Given the description of an element on the screen output the (x, y) to click on. 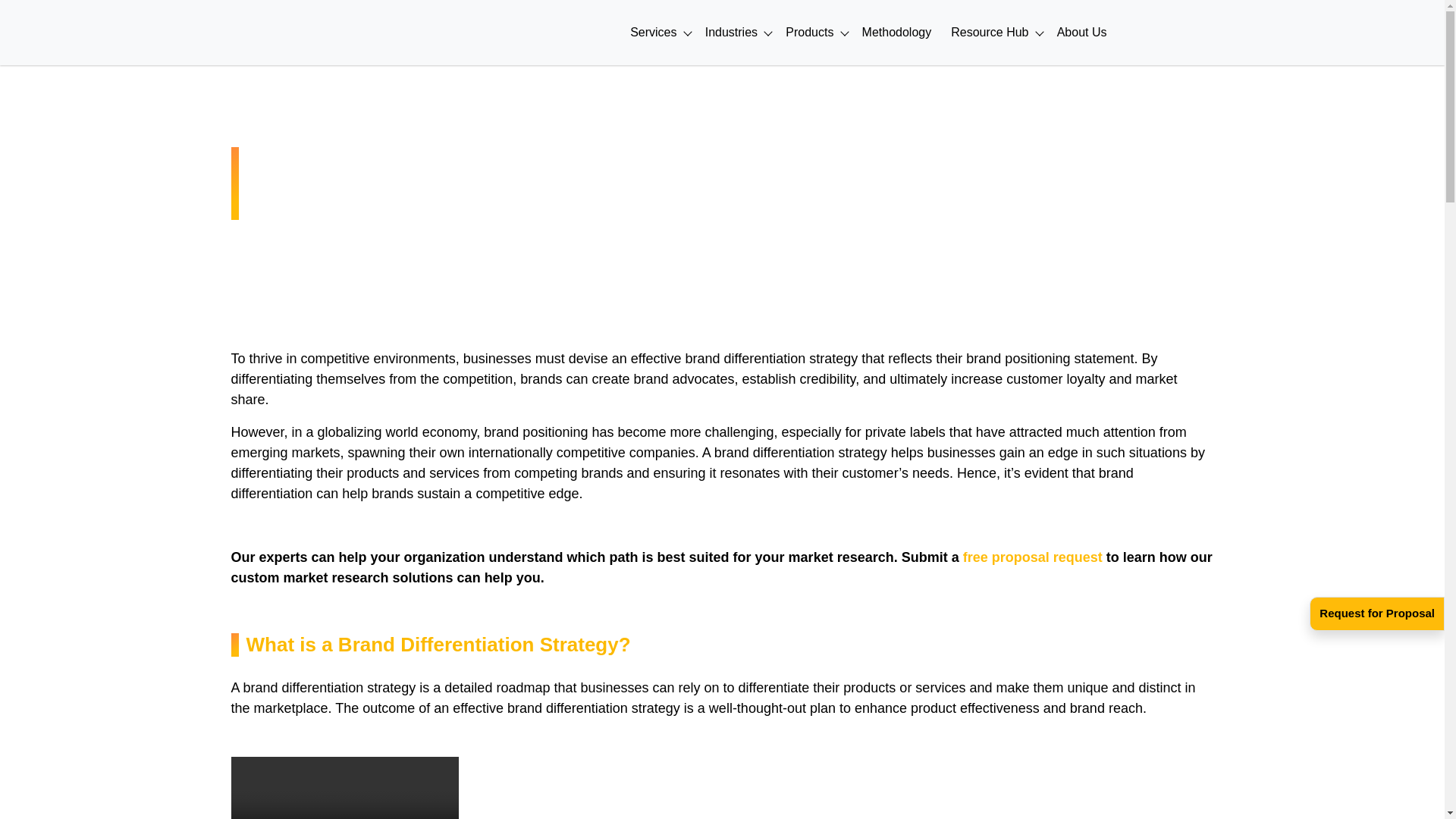
Industries (735, 32)
Services (657, 32)
